Given the description of an element on the screen output the (x, y) to click on. 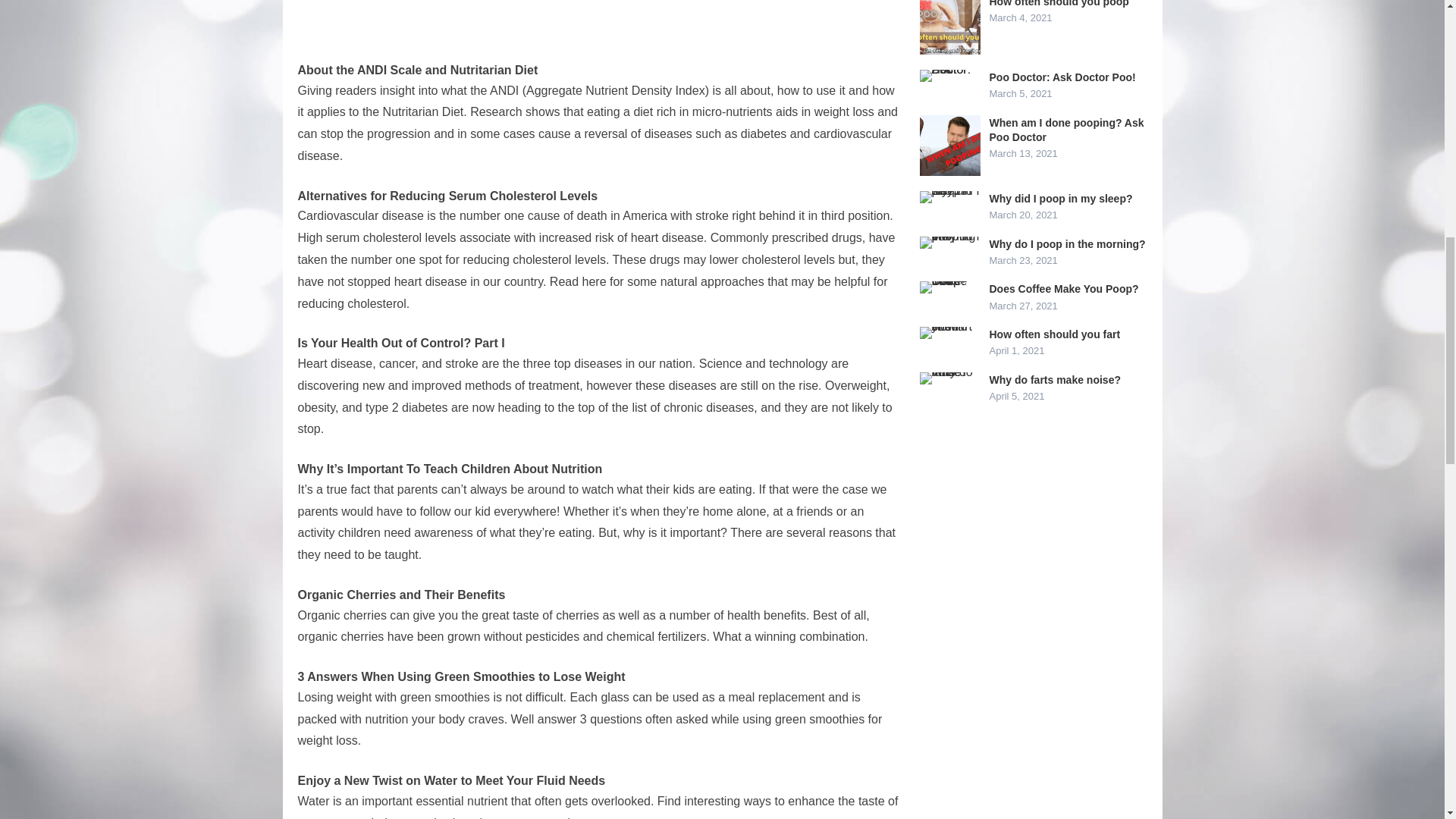
Why do I poop in the morning? 17 (948, 242)
Poo Doctor: Ask Doctor Poo! 14 (948, 75)
How often should you fart 19 (948, 332)
Does Coffee Make You Poop? 18 (948, 287)
Why do farts make noise? 20 (948, 378)
How often should you poop 13 (948, 27)
When am I done pooping? Ask Poo Doctor 15 (948, 145)
Why did I poop in my sleep? 16 (948, 196)
